Given the description of an element on the screen output the (x, y) to click on. 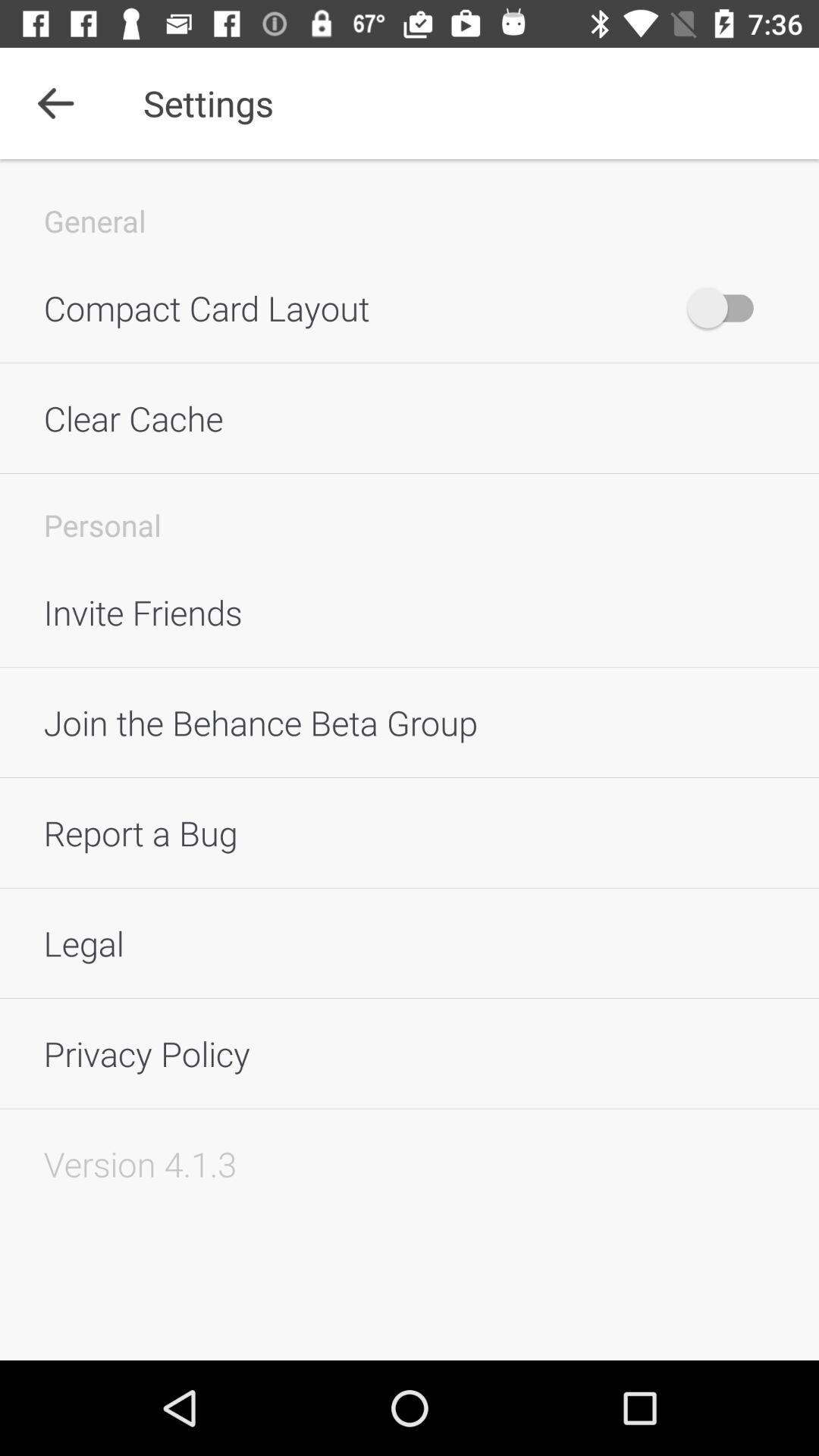
scroll until the legal icon (409, 943)
